Given the description of an element on the screen output the (x, y) to click on. 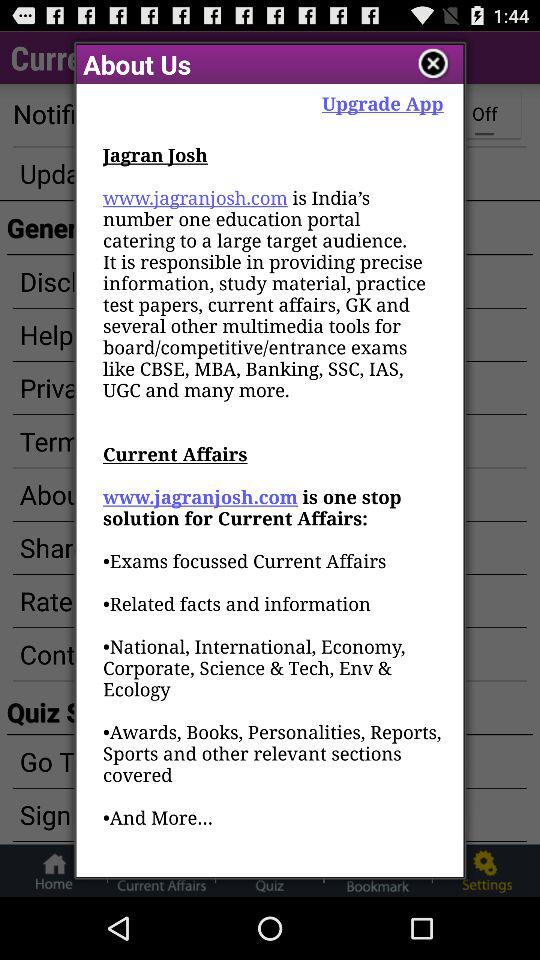
open upgrade app icon (382, 102)
